Given the description of an element on the screen output the (x, y) to click on. 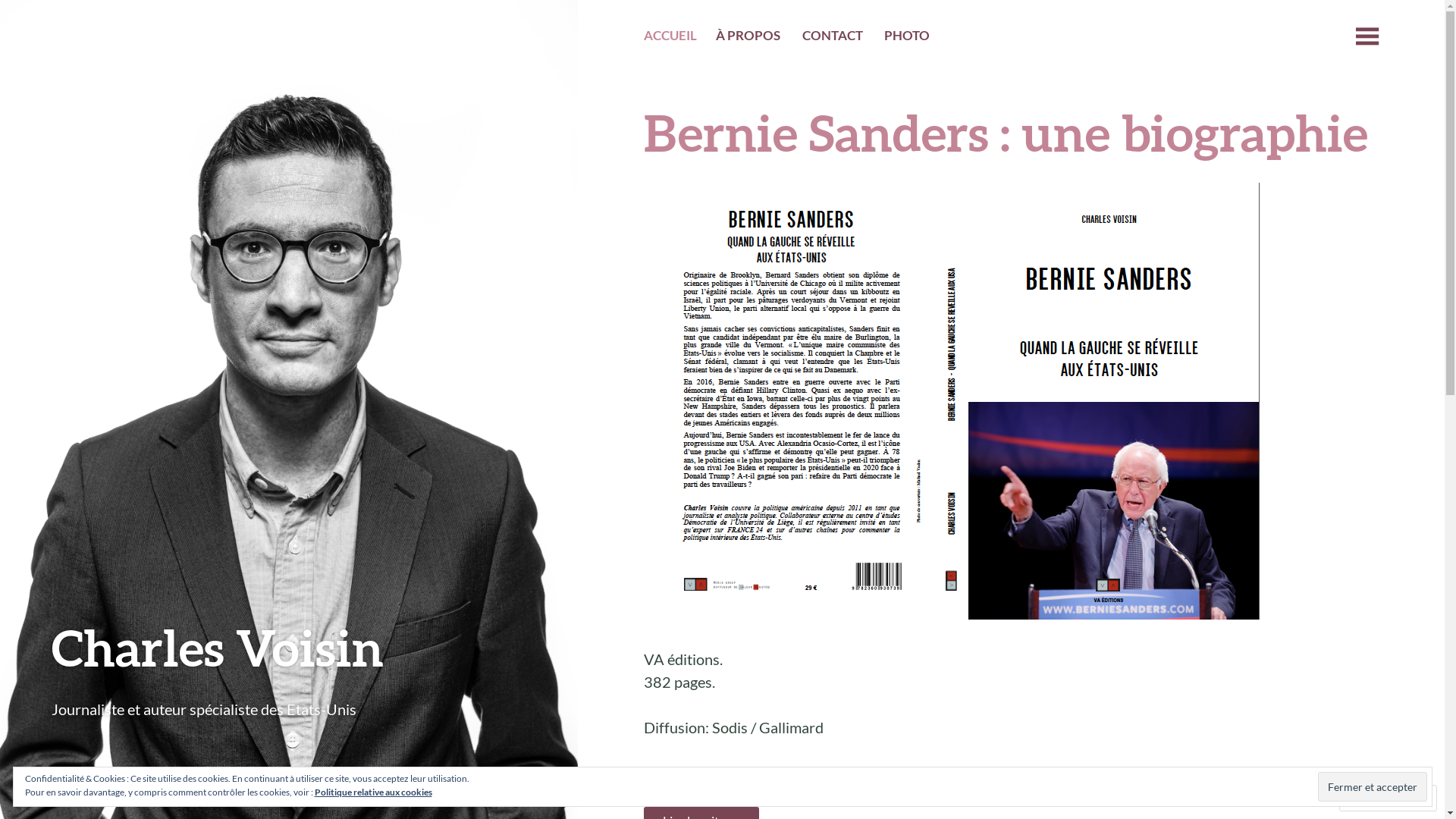
PHOTO Element type: text (906, 37)
Suivre Element type: text (1373, 797)
Fermer et accepter Element type: text (1372, 786)
Bernie Sanders : une biographie Element type: text (1005, 132)
Charles Voisin Element type: text (217, 647)
Politique relative aux cookies Element type: text (372, 791)
ACCUEIL Element type: text (669, 37)
CONTACT Element type: text (832, 37)
